Given the description of an element on the screen output the (x, y) to click on. 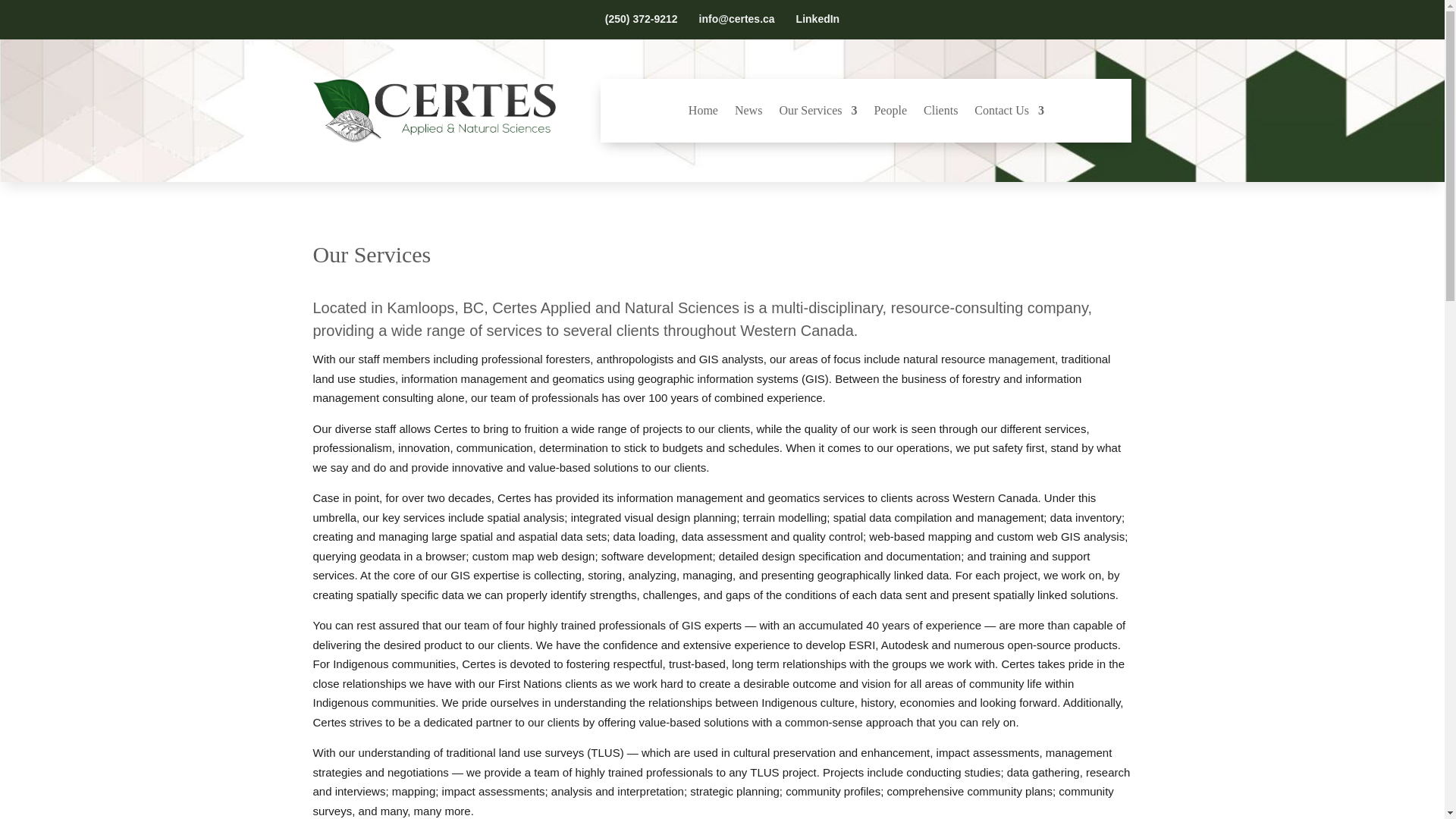
Home (702, 113)
LinkedIn (818, 19)
Clients (940, 113)
News (748, 113)
Our Services (817, 113)
Contact Us (1008, 113)
People (890, 113)
